Given the description of an element on the screen output the (x, y) to click on. 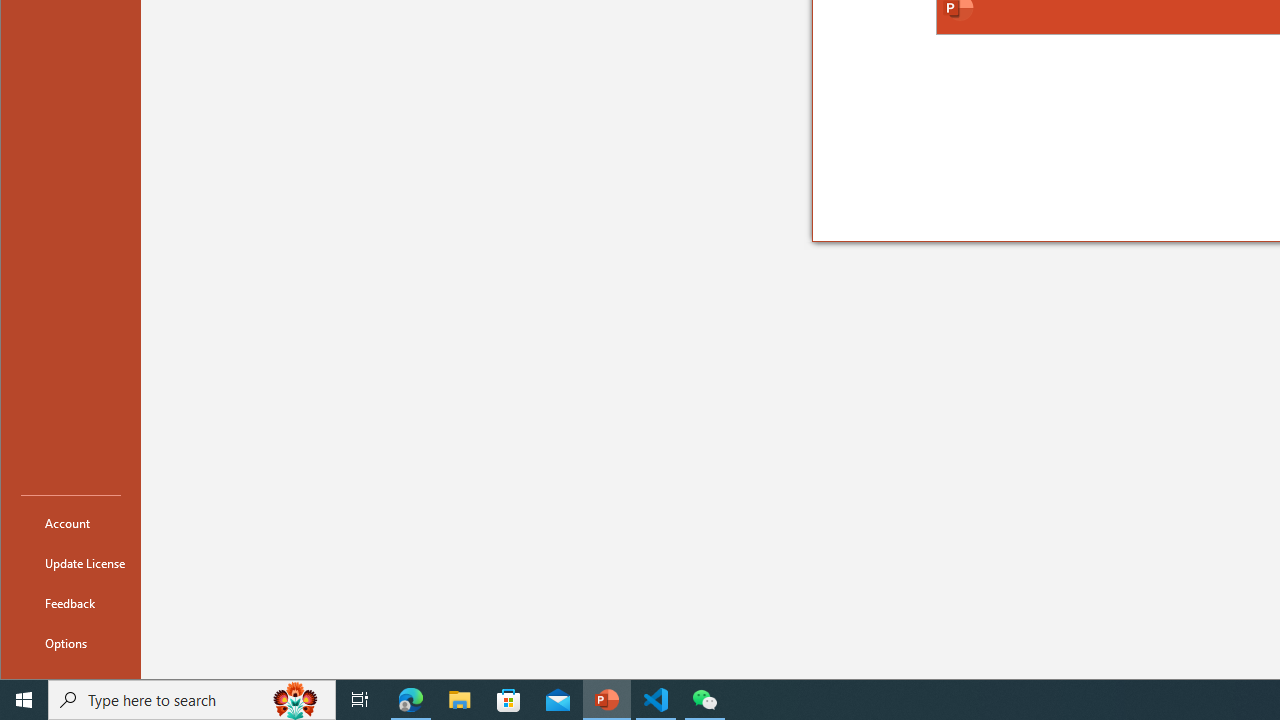
Account (70, 522)
File Explorer (460, 699)
WeChat - 1 running window (704, 699)
PowerPoint - 1 running window (607, 699)
Update License (70, 562)
Options (70, 642)
Feedback (70, 602)
Microsoft Edge - 1 running window (411, 699)
